Given the description of an element on the screen output the (x, y) to click on. 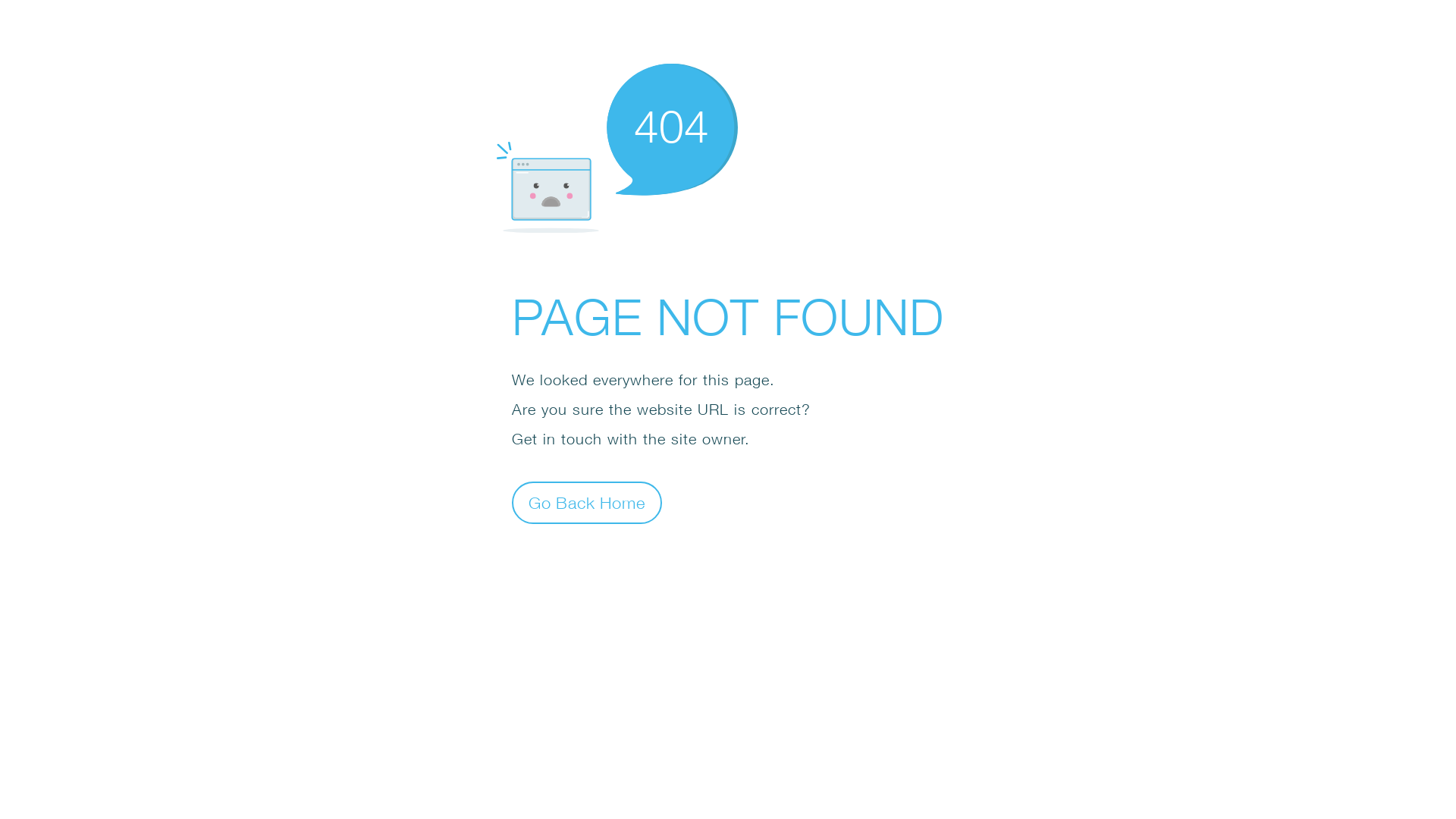
Go Back Home Element type: text (586, 502)
